Given the description of an element on the screen output the (x, y) to click on. 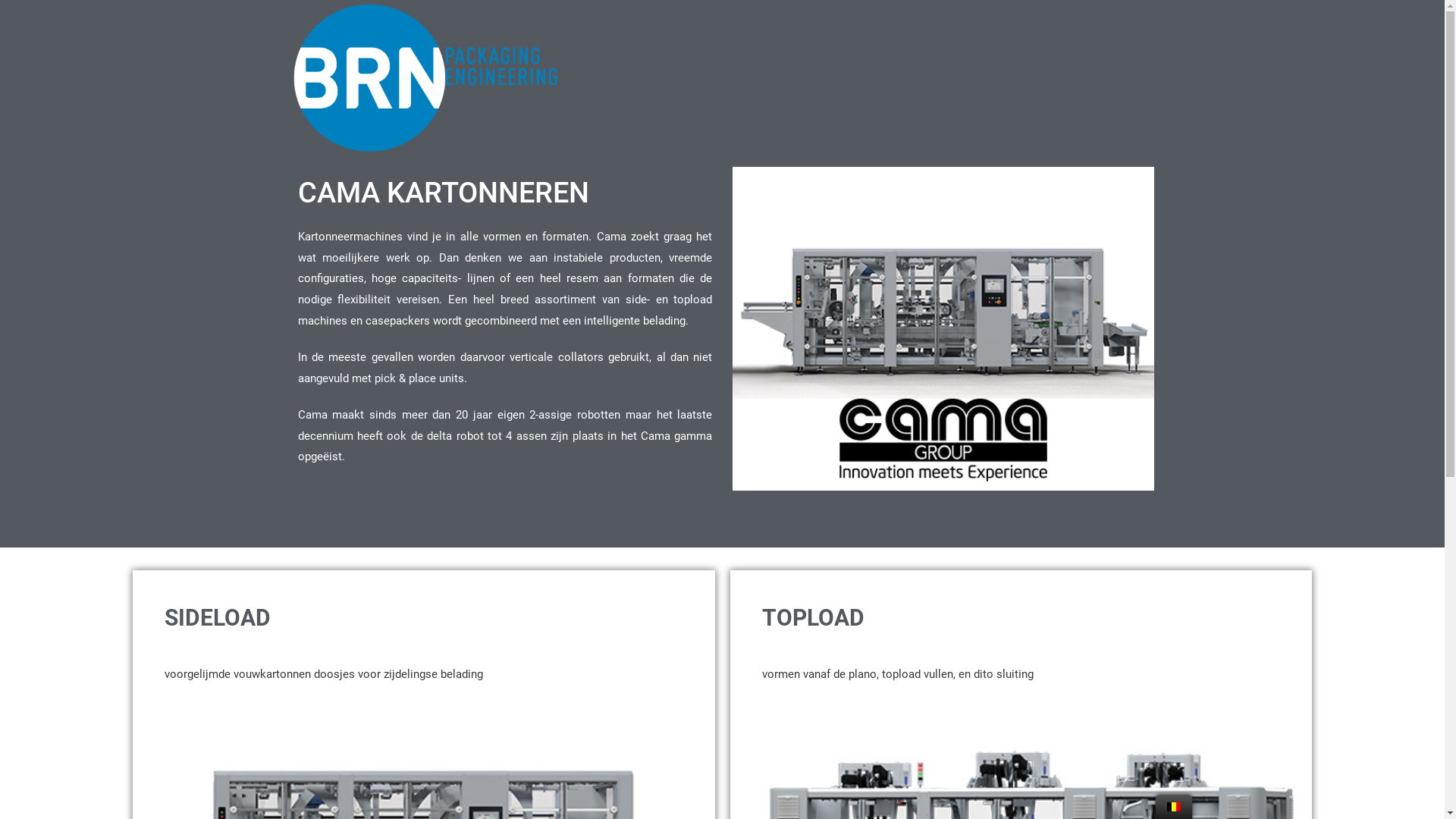
ONZE PARTNERS Element type: text (892, 55)
PRODUCTEN Element type: text (756, 55)
HOME Element type: text (659, 55)
CONTACT Element type: text (1107, 55)
OVER ONS Element type: text (1012, 55)
